Given the description of an element on the screen output the (x, y) to click on. 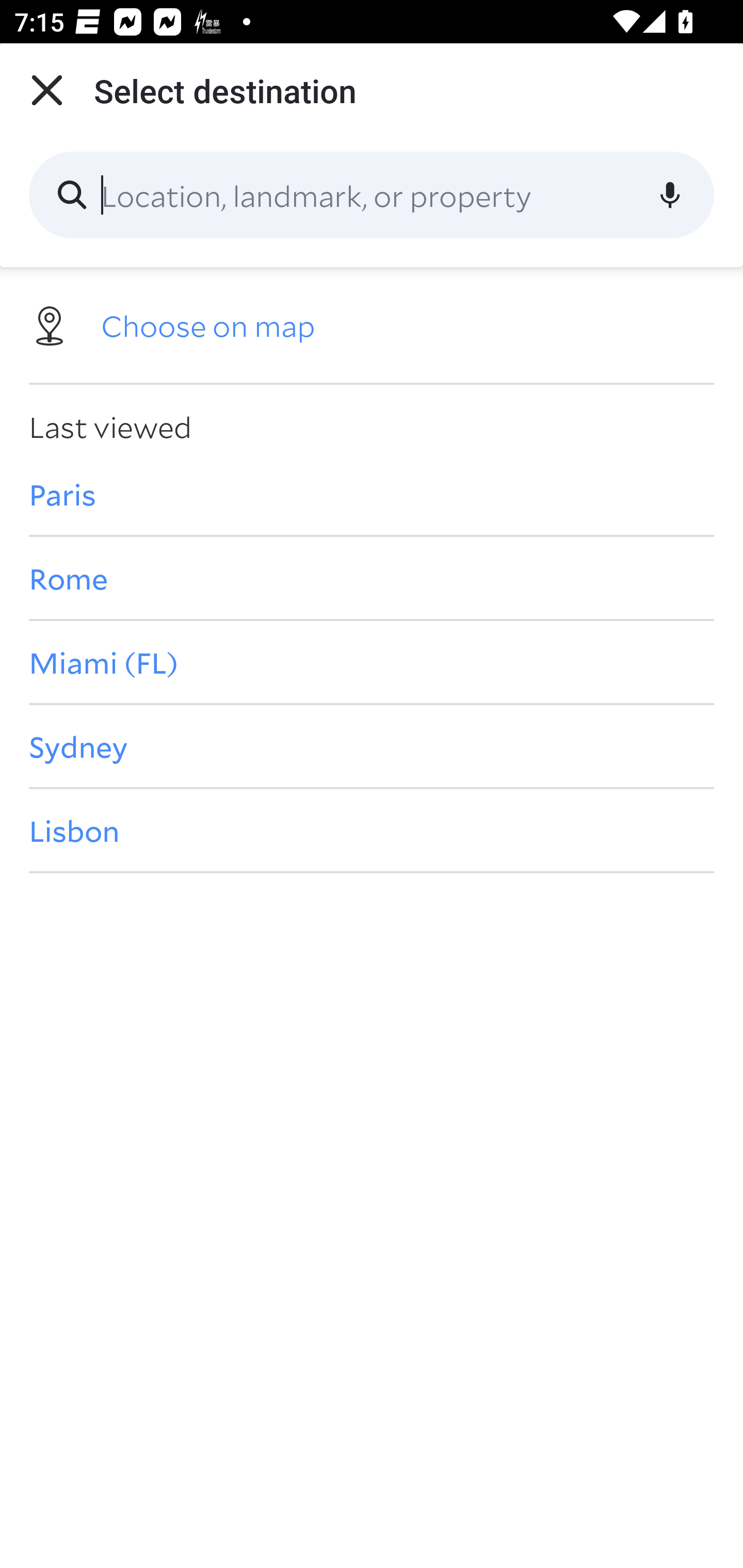
Location, landmark, or property (371, 195)
Choose on map (371, 324)
Paris (371, 493)
Rome (371, 577)
Miami (FL) (371, 661)
Sydney (371, 746)
Lisbon (371, 829)
